Given the description of an element on the screen output the (x, y) to click on. 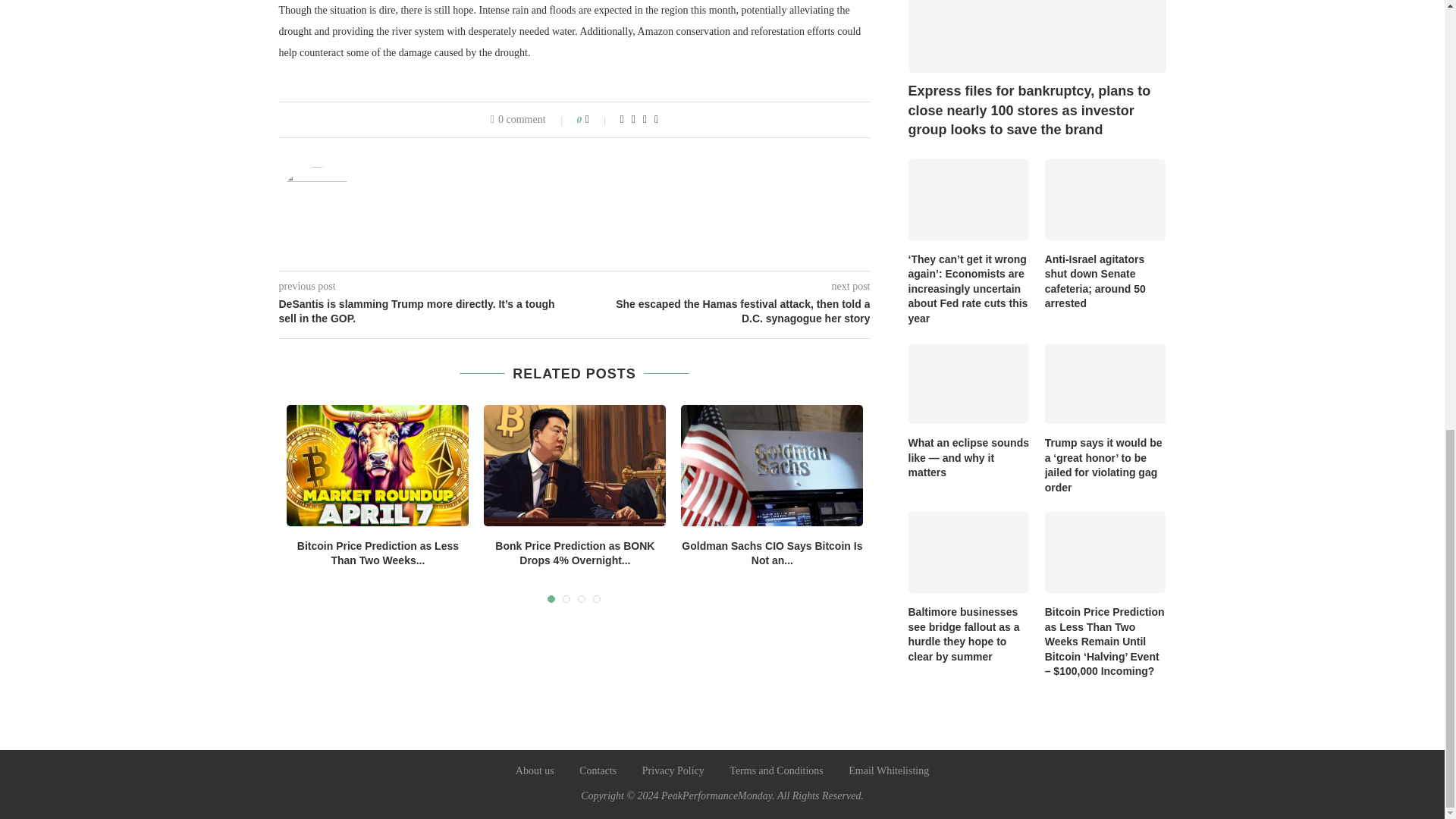
Like (597, 119)
